Given the description of an element on the screen output the (x, y) to click on. 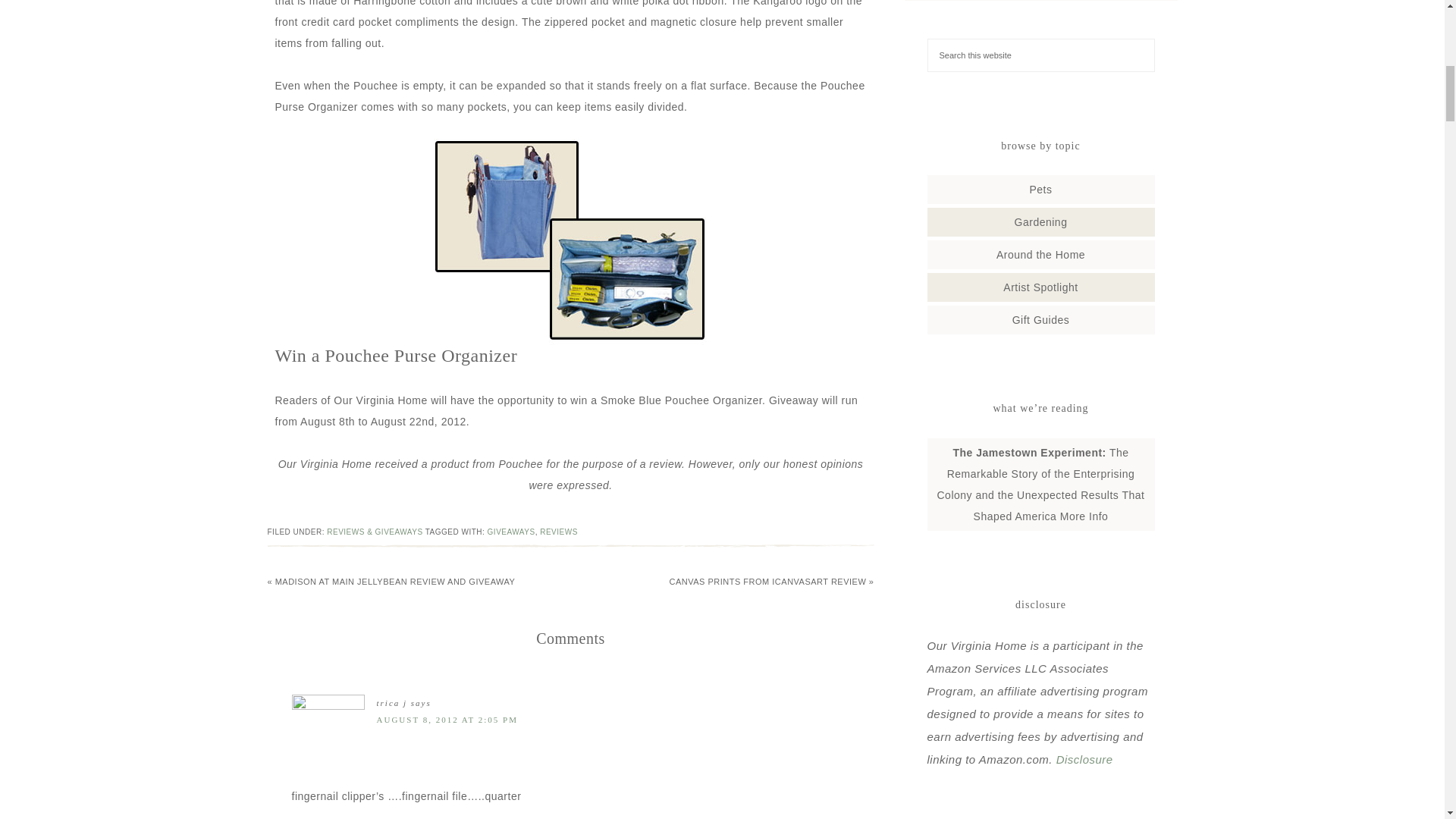
poucheepurse2 (570, 241)
REVIEWS (559, 531)
GIVEAWAYS (511, 531)
AUGUST 8, 2012 AT 2:05 PM (446, 718)
